Given the description of an element on the screen output the (x, y) to click on. 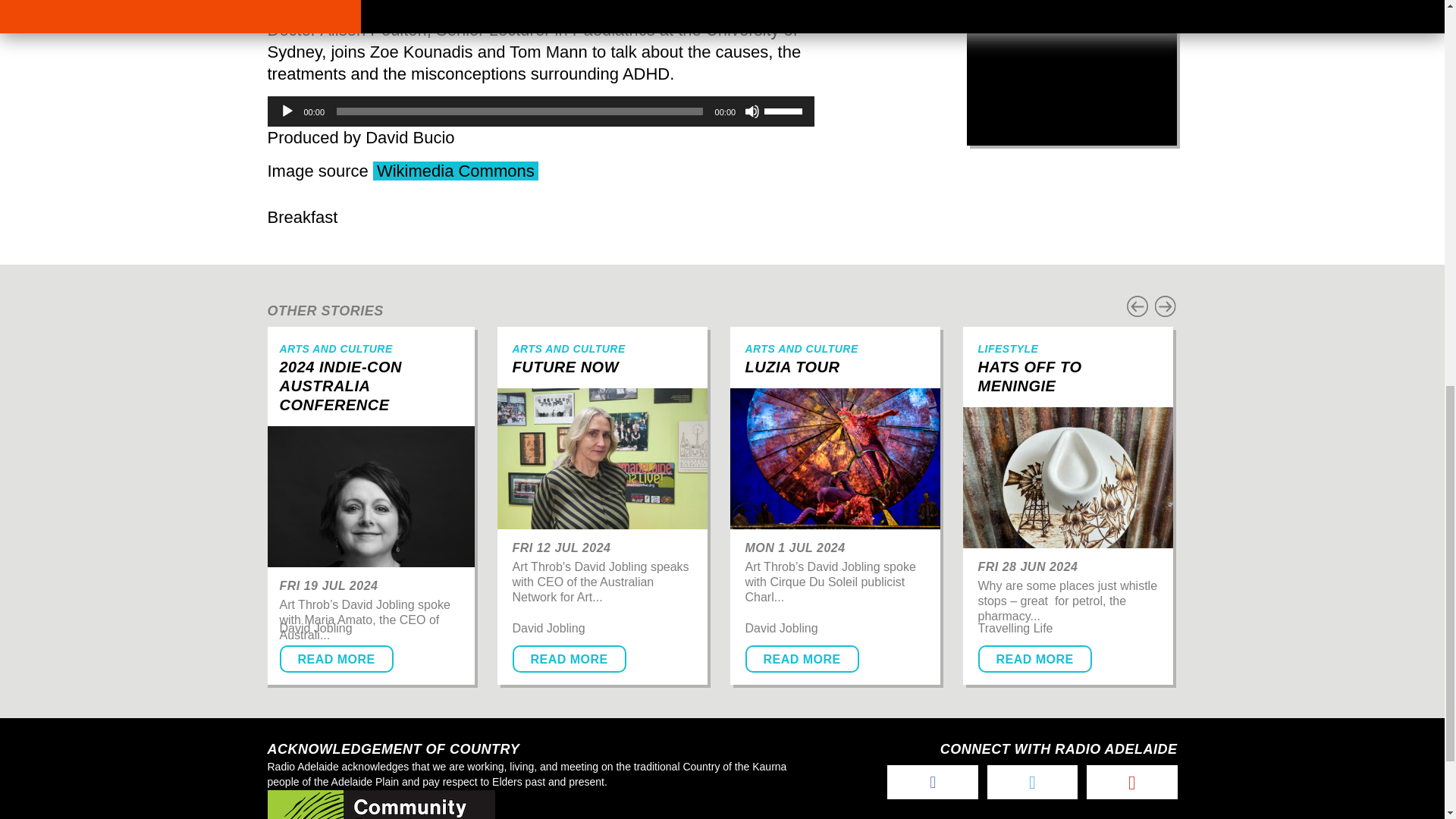
Mute (752, 111)
Play (286, 111)
